Given the description of an element on the screen output the (x, y) to click on. 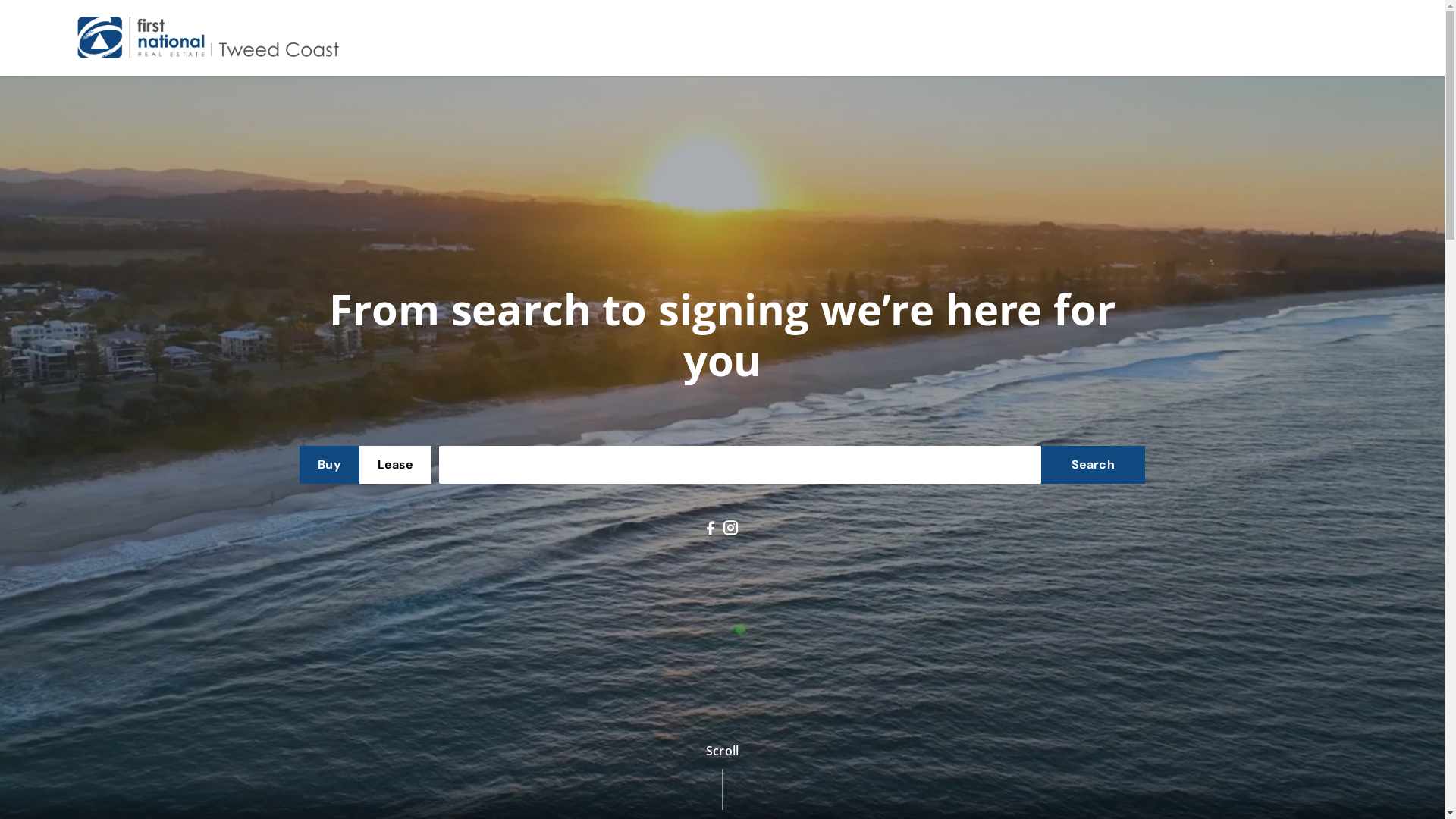
Lease Element type: text (395, 464)
Buy Element type: text (328, 464)
Search Element type: text (1092, 464)
